Given the description of an element on the screen output the (x, y) to click on. 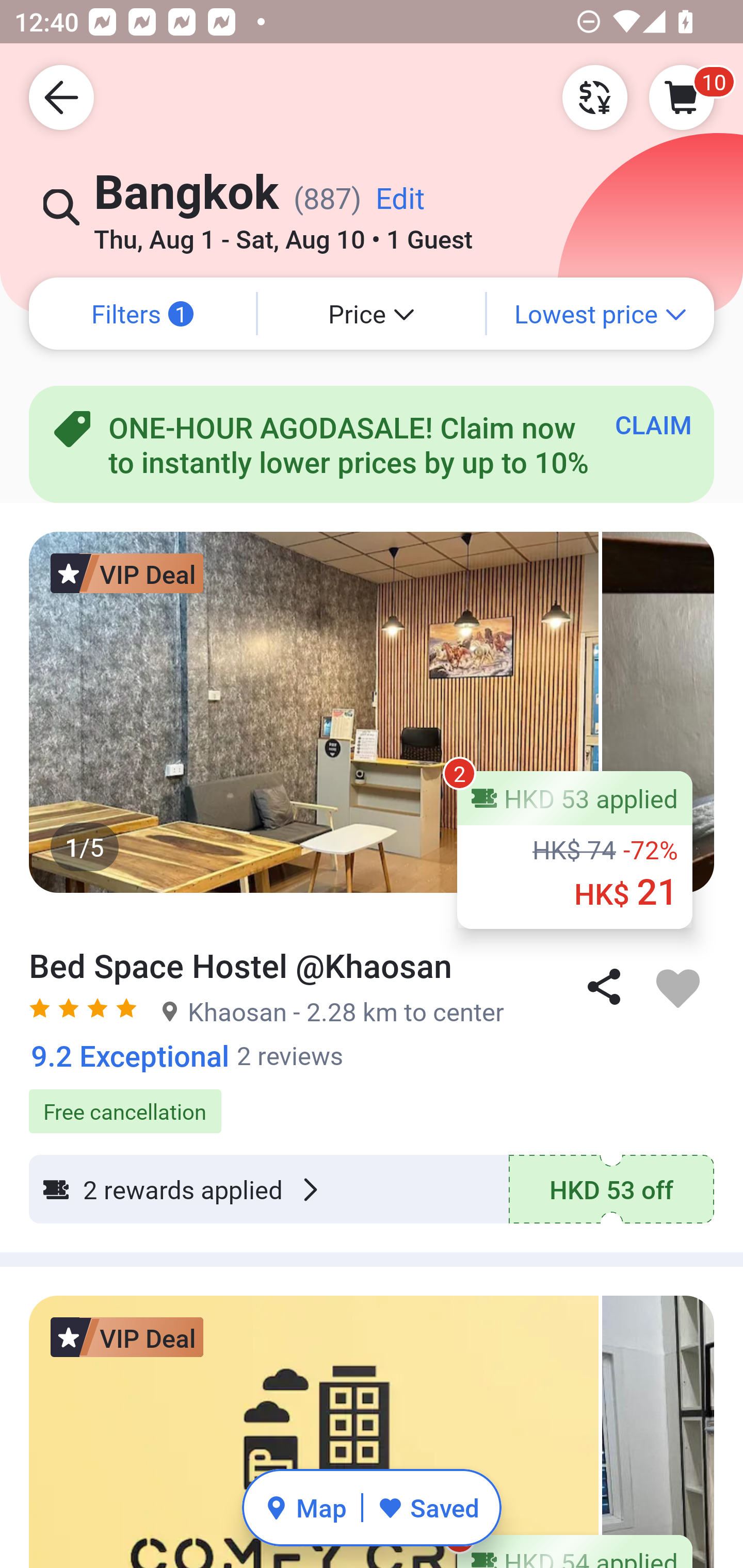
Thu, Aug 1 - Sat, Aug 10 • 1 Guest (283, 232)
Filters 1 (141, 313)
Price (371, 313)
Lowest price (600, 313)
CLAIM (653, 424)
VIP Deal (126, 572)
1/5 (371, 711)
HKD 53 applied ‪HK$ 74 -72% ‪HK$ 21 2 (574, 849)
Free cancellation (371, 1100)
2 rewards applied HKD 53 off (371, 1189)
VIP Deal (126, 1337)
Map (305, 1507)
Saved (428, 1507)
